Given the description of an element on the screen output the (x, y) to click on. 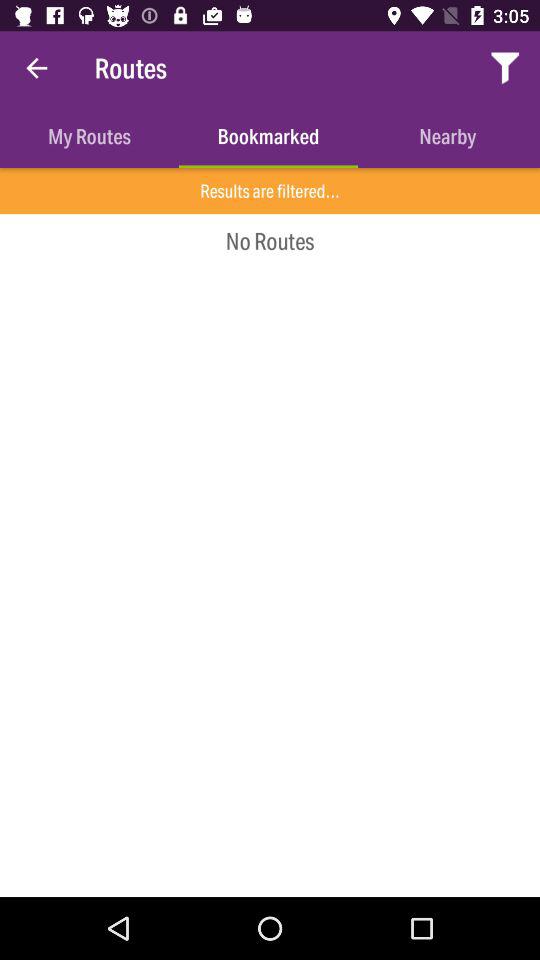
launch item next to routes icon (505, 67)
